Given the description of an element on the screen output the (x, y) to click on. 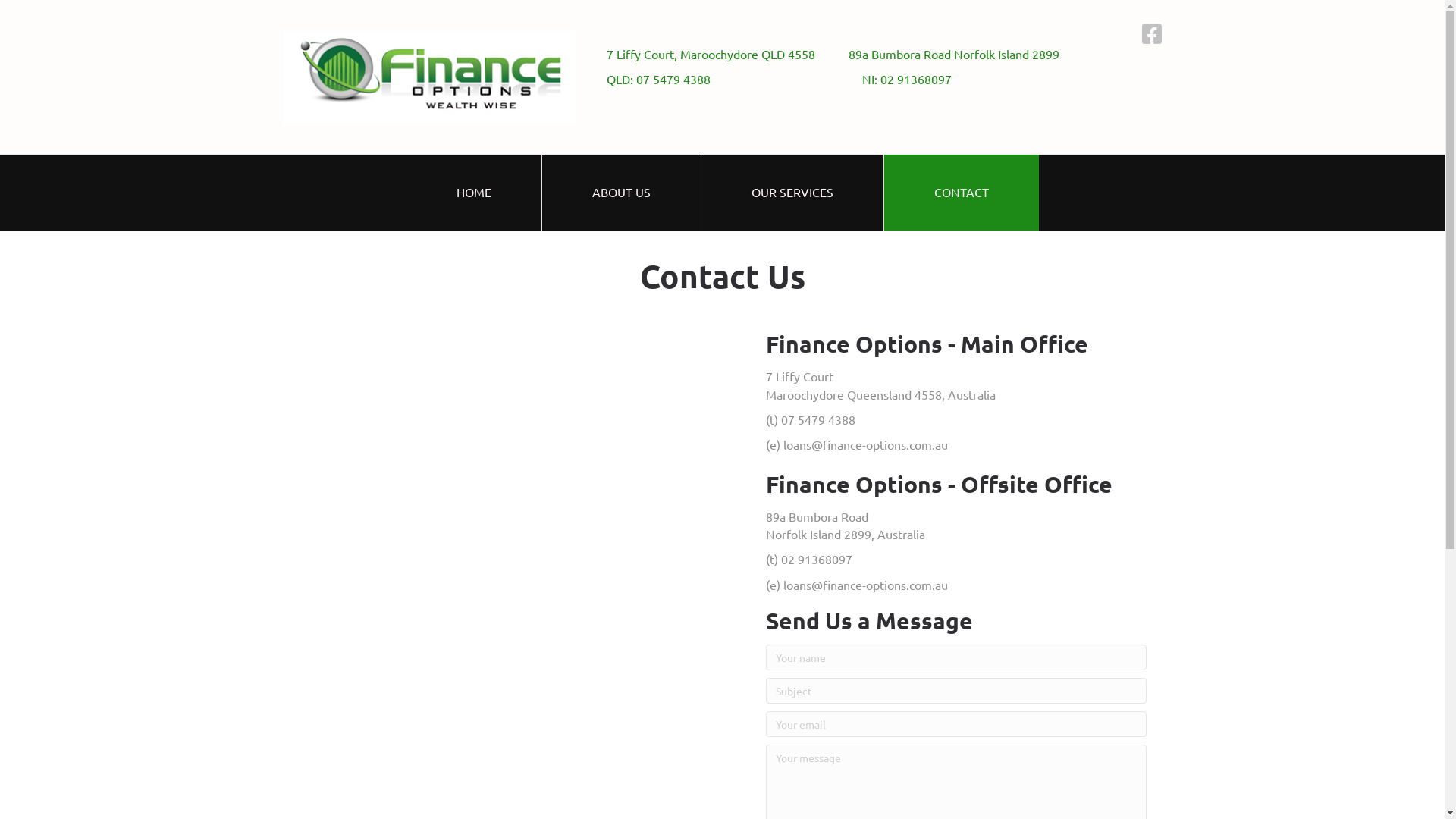
Finance Options Wealthwise (002) Element type: hover (429, 76)
OUR SERVICES Element type: text (791, 191)
CONTACT Element type: text (961, 191)
HOME Element type: text (473, 191)
ABOUT US Element type: text (620, 191)
